Given the description of an element on the screen output the (x, y) to click on. 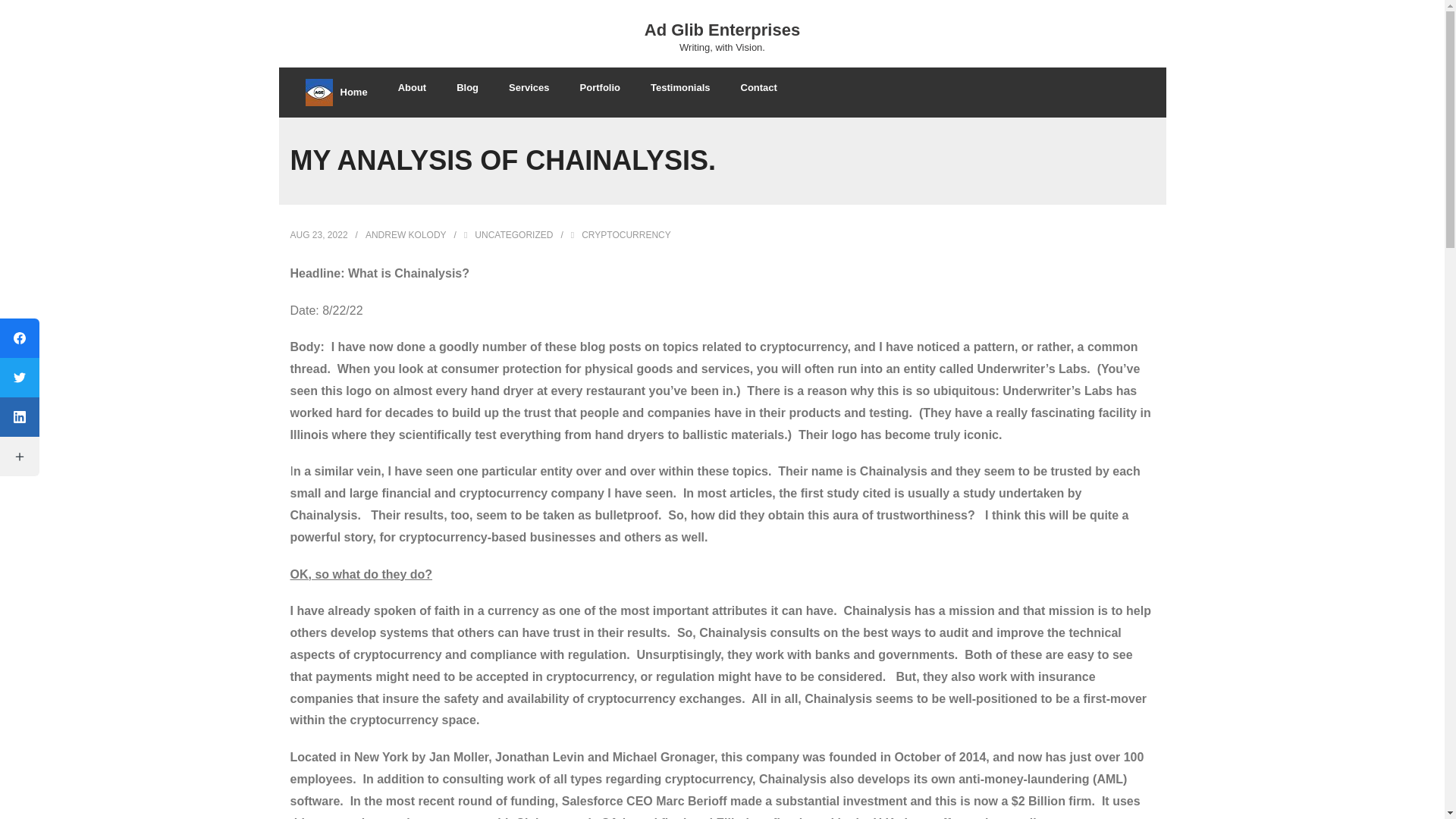
CRYPTOCURRENCY (625, 235)
Contact (758, 87)
My Analysis of Chainalysis. (318, 235)
Ad Glib Enterprises (722, 30)
Testimonials (679, 87)
About (412, 87)
Home (335, 92)
ANDREW KOLODY (405, 235)
AUG 23, 2022 (318, 235)
Blog (467, 87)
Portfolio (599, 87)
Writing, with Vision. (722, 47)
Services (722, 35)
UNCATEGORIZED (528, 87)
